Given the description of an element on the screen output the (x, y) to click on. 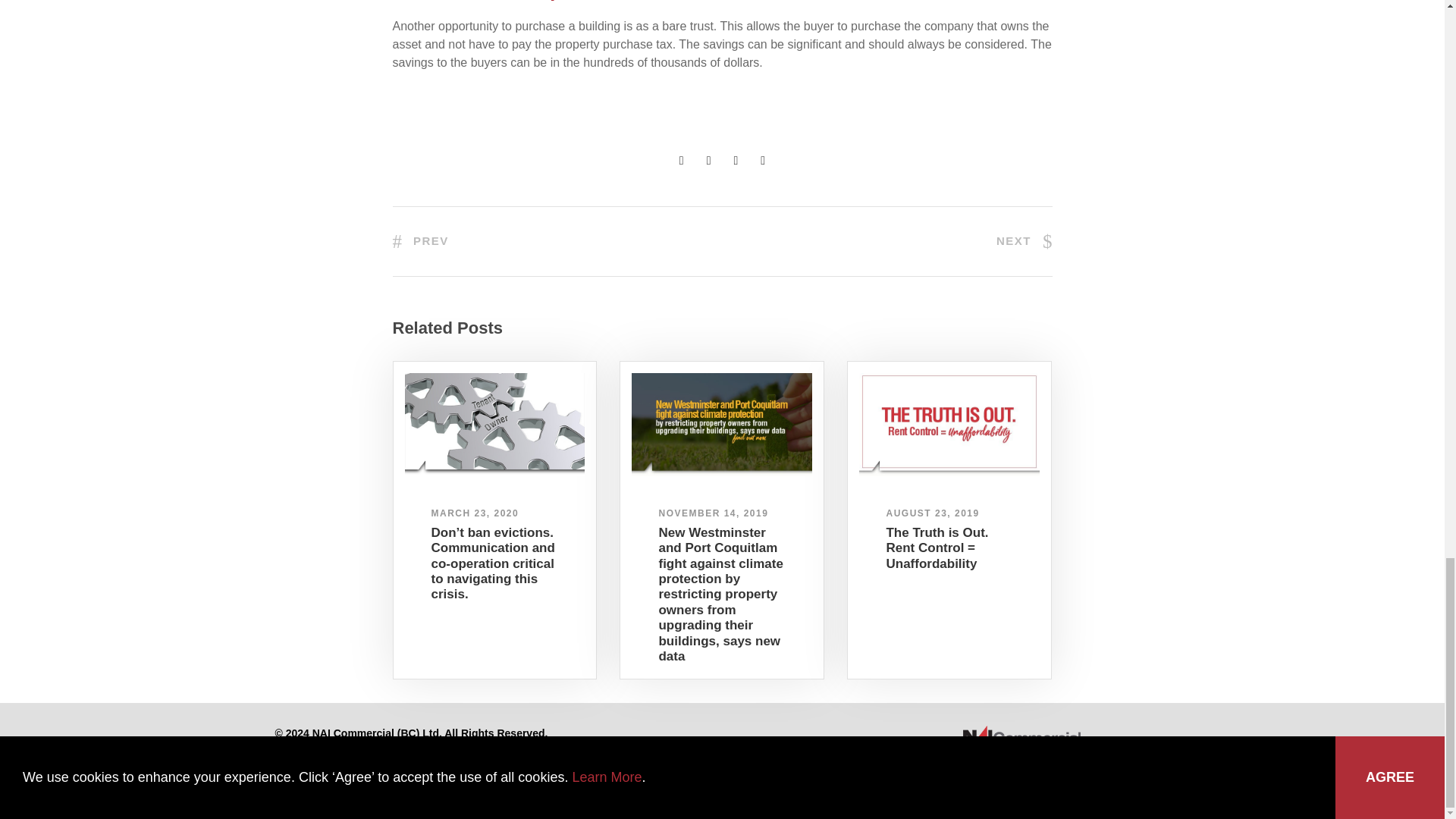
NOVEMBER 14, 2019 (713, 512)
MARCH 23, 2020 (474, 512)
AUGUST 23, 2019 (931, 512)
Privacy Policy (304, 748)
Terms of Use (370, 748)
NEXT (1023, 240)
PREV (420, 240)
